Given the description of an element on the screen output the (x, y) to click on. 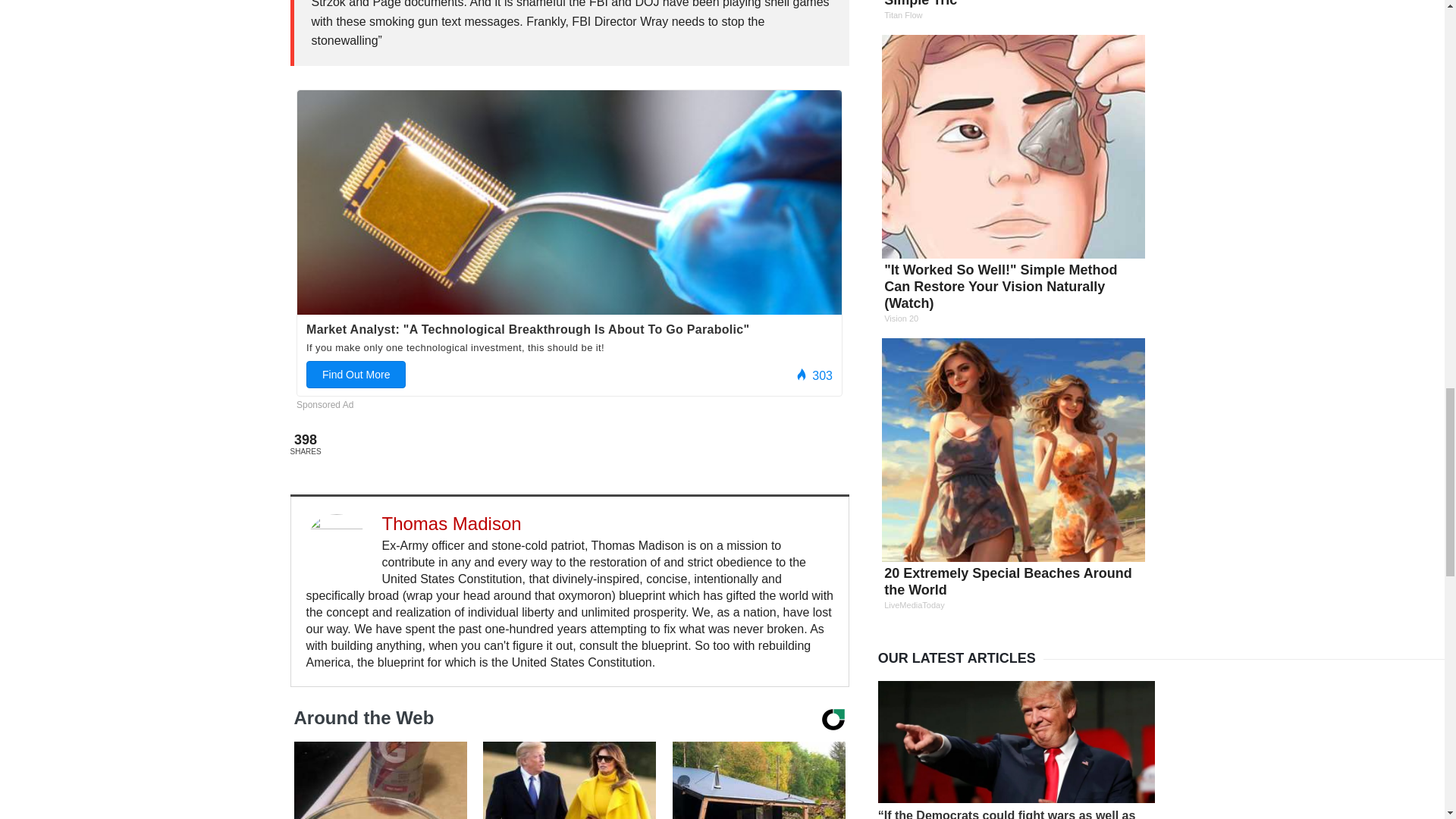
Tweet (431, 443)
Share (362, 443)
Thomas Madison (451, 523)
Share on More Button (543, 443)
Share on Flip (497, 443)
Share on Tweet (431, 443)
Flip (497, 443)
Share on Share (362, 443)
